Given the description of an element on the screen output the (x, y) to click on. 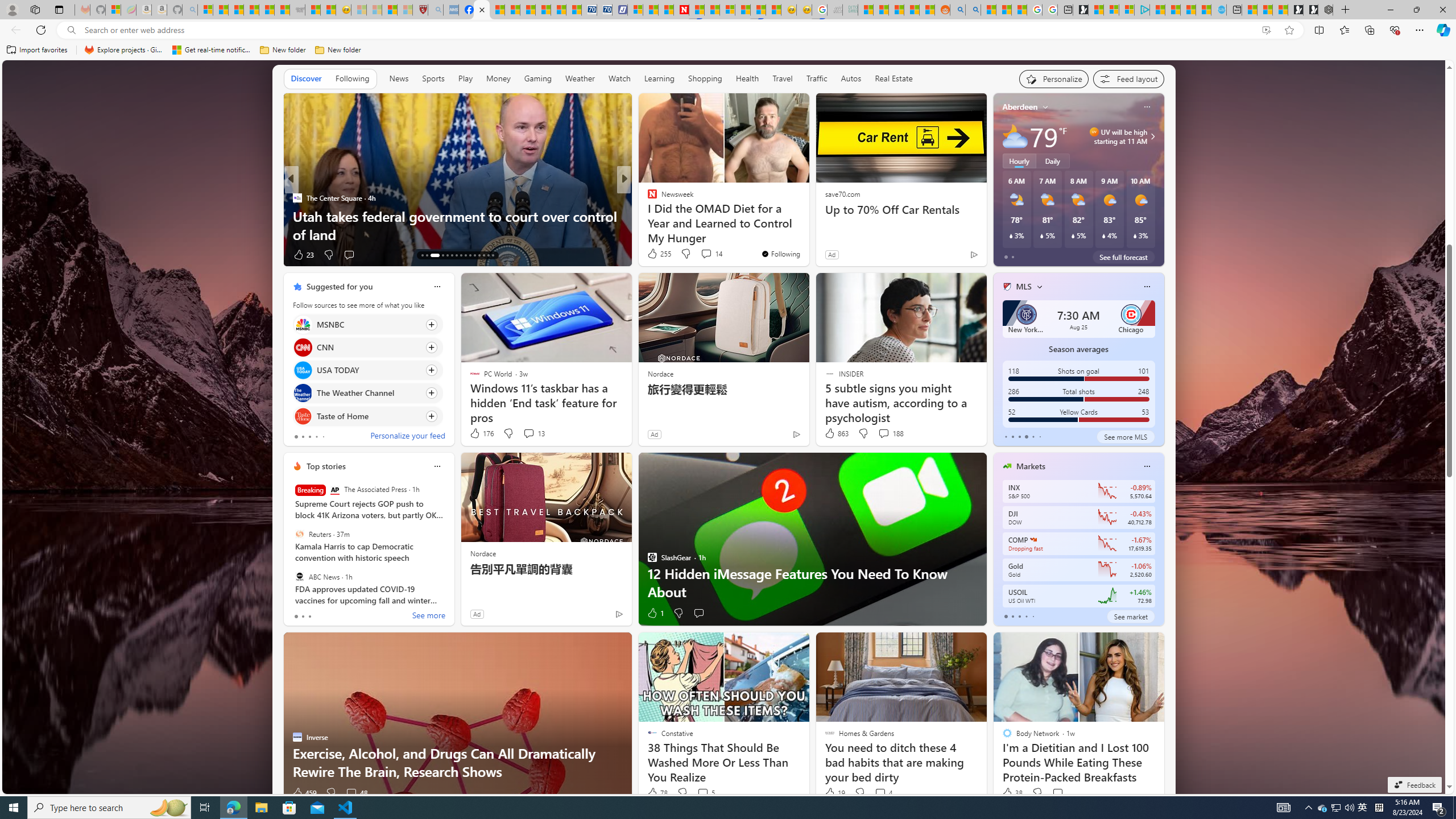
View comments 23 Comment (707, 254)
Suggested for you (338, 286)
Click to follow source CNN (367, 347)
12 Popular Science Lies that Must be Corrected - Sleeping (405, 9)
View comments 14 Comment (710, 253)
Best Clean Eating (647, 197)
You're following Newsweek (780, 253)
